Given the description of an element on the screen output the (x, y) to click on. 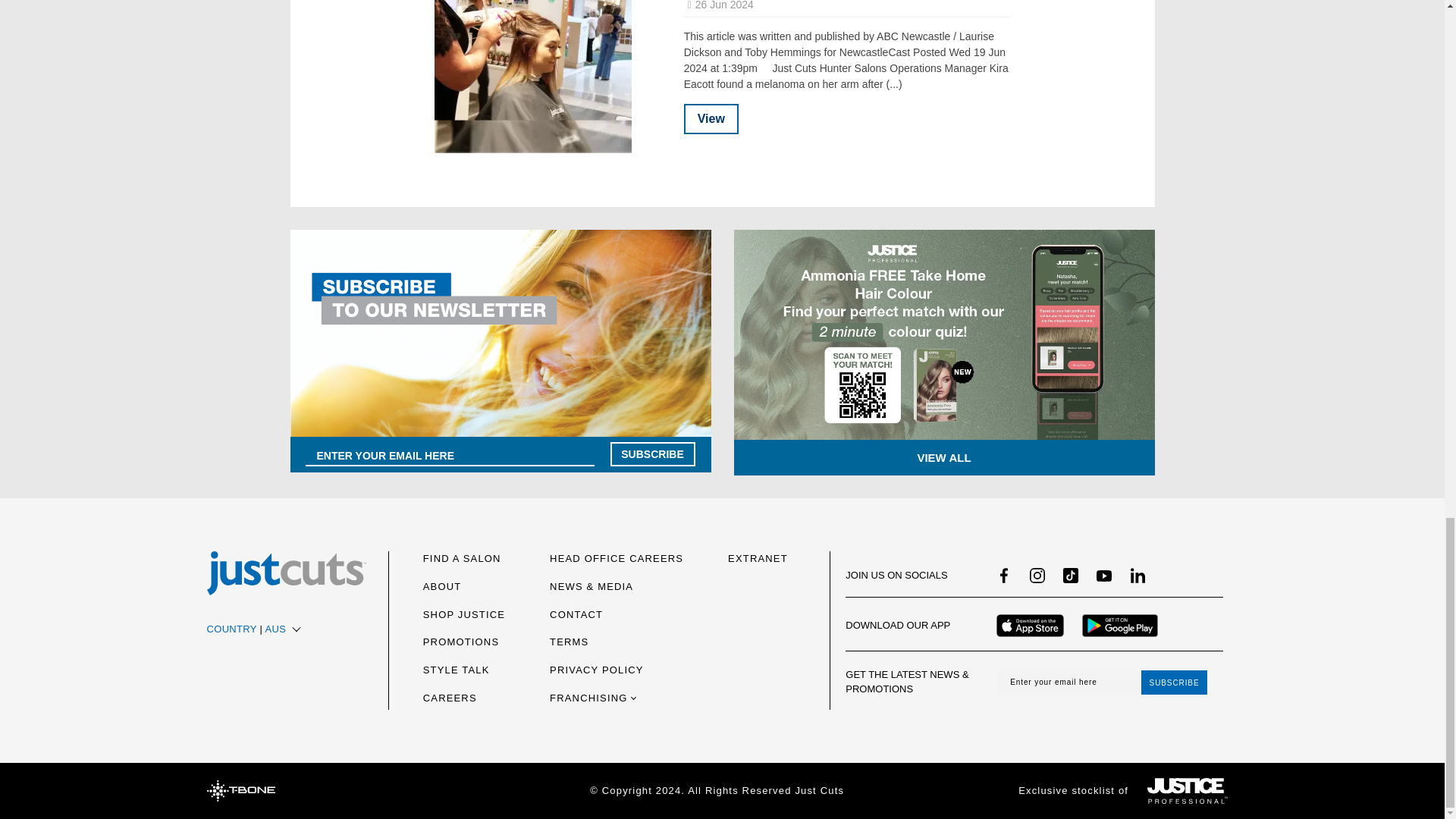
Enter (652, 454)
View (711, 119)
Subscribe (1174, 682)
SUBSCRIBE (652, 454)
VIEW ALL (943, 457)
